Given the description of an element on the screen output the (x, y) to click on. 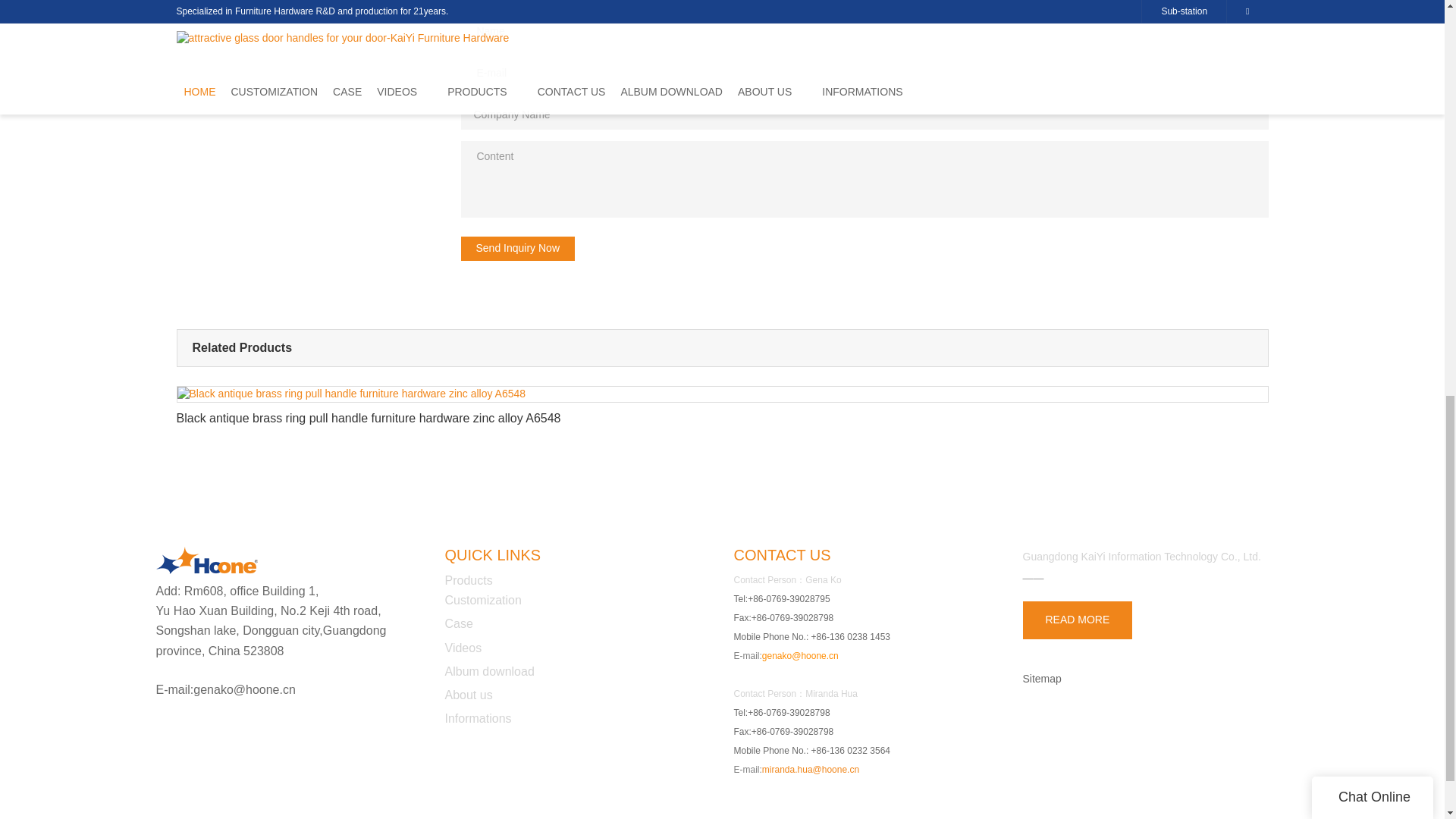
Products (468, 580)
Send Inquiry Now (518, 248)
Customization (482, 599)
ase (462, 623)
